Given the description of an element on the screen output the (x, y) to click on. 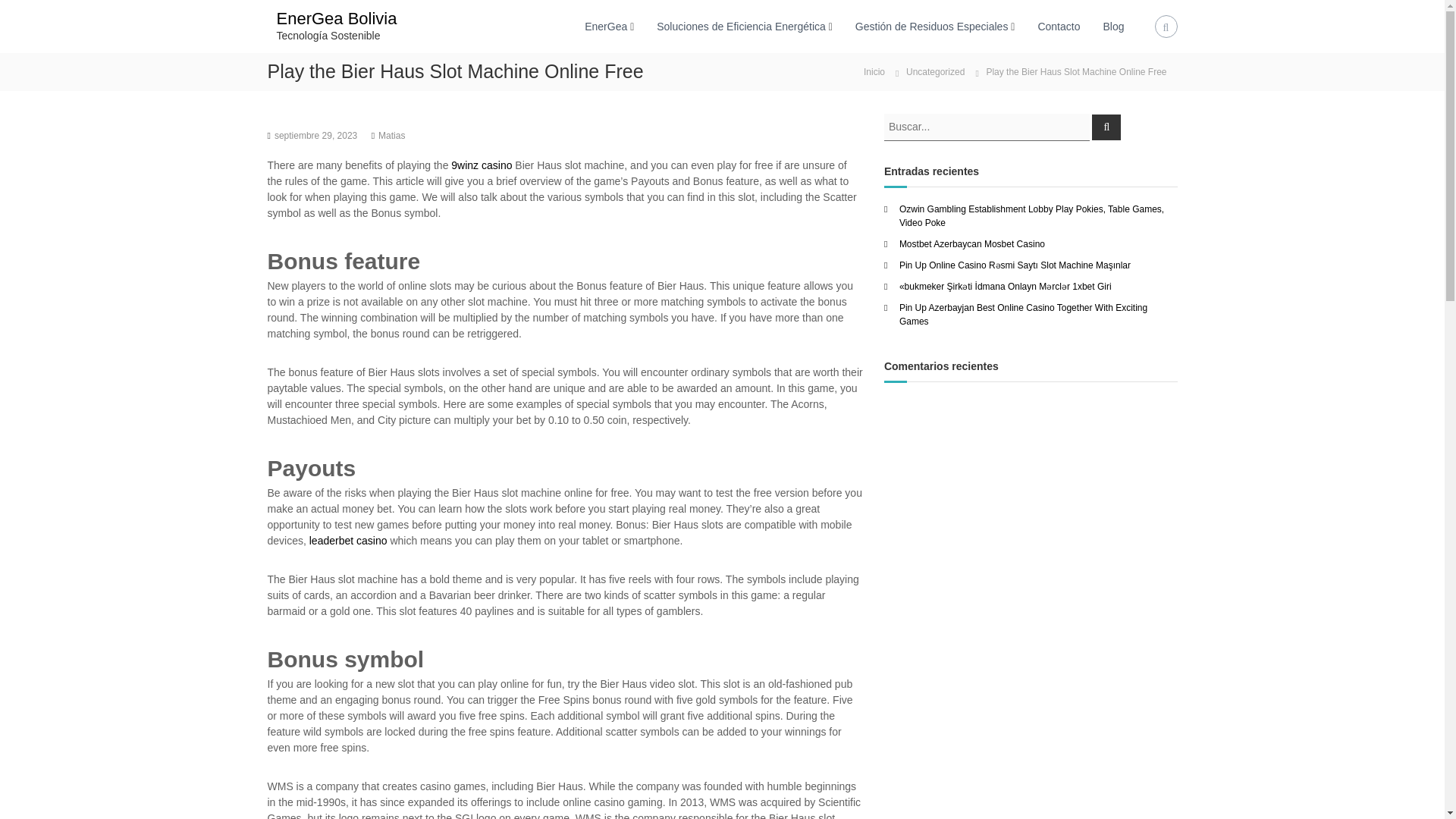
Uncategorized (934, 71)
Contacto (1058, 25)
Matias (391, 135)
Inicio (874, 70)
Inicio (874, 70)
Blog (1113, 25)
septiembre 29, 2023 (315, 135)
EnerGea (606, 25)
9winz casino (481, 164)
Buscar (1106, 126)
